Given the description of an element on the screen output the (x, y) to click on. 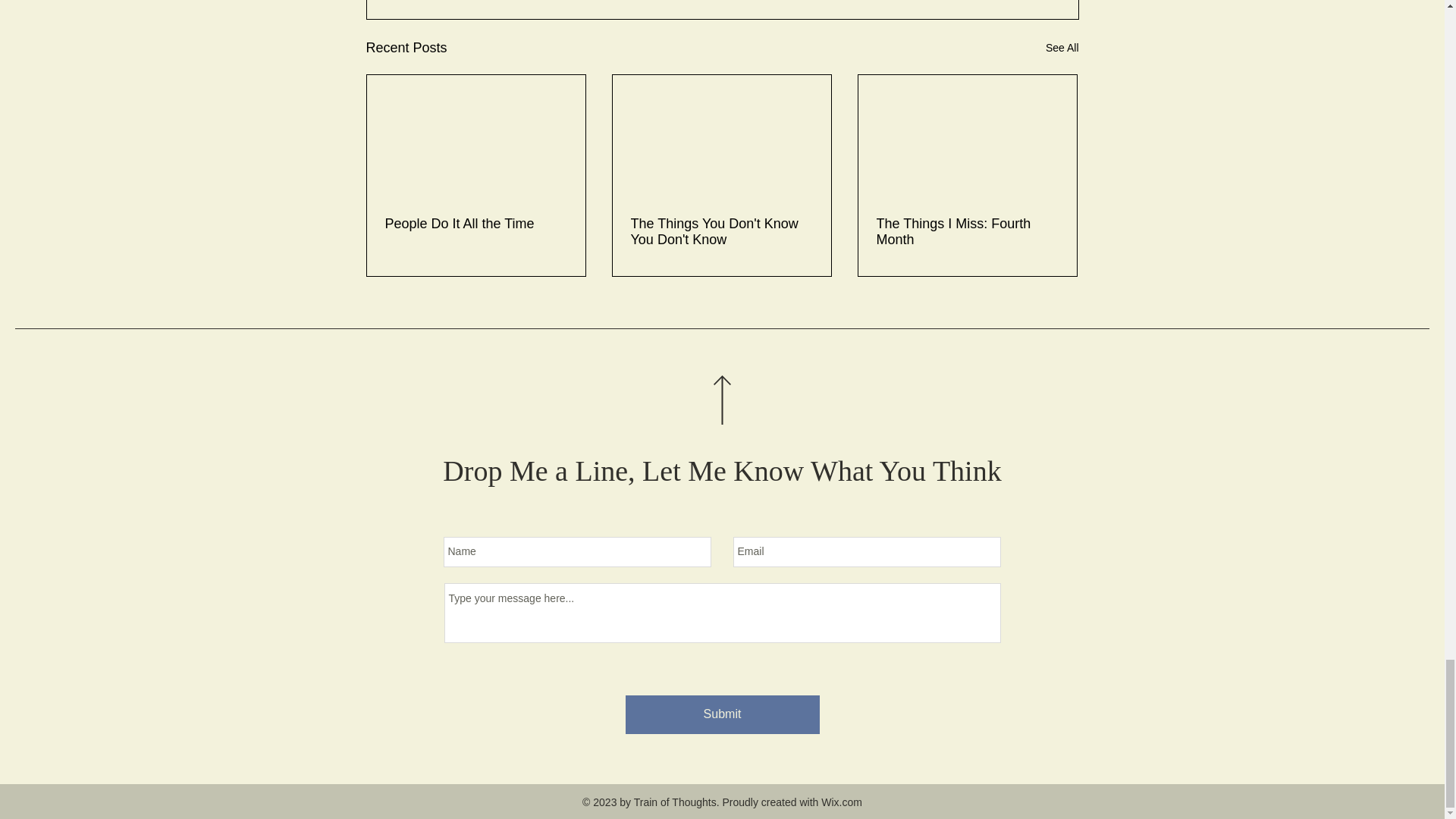
The Things I Miss: Fourth Month (967, 232)
The Things You Don't Know You Don't Know (721, 232)
See All (1061, 47)
Submit (721, 714)
People Do It All the Time (476, 223)
Wix.com (841, 802)
